Given the description of an element on the screen output the (x, y) to click on. 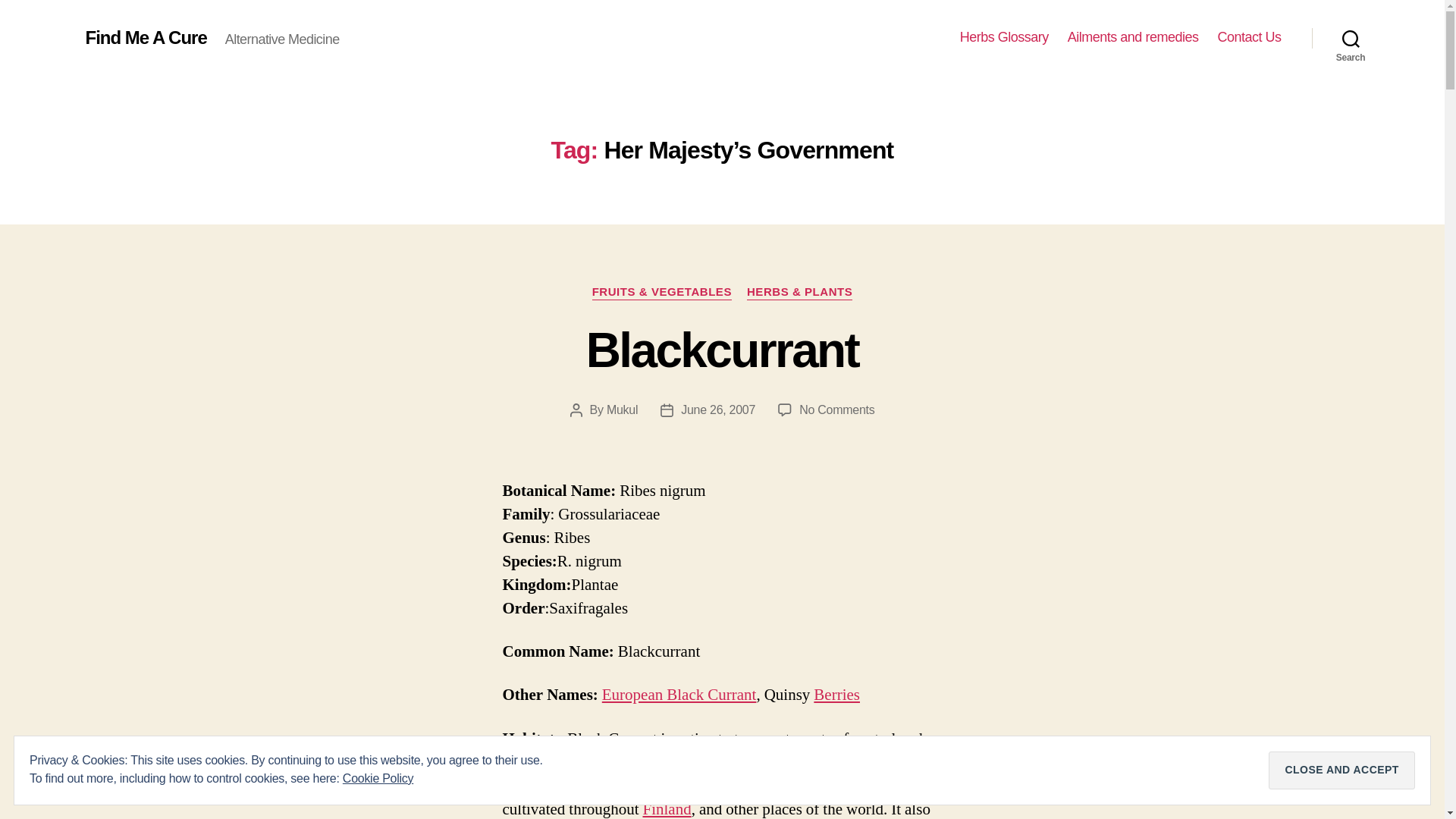
Close and accept (1341, 770)
Herbs Glossary (1003, 37)
Finland (666, 809)
Find Me A Cure (145, 37)
Blackcurrant (722, 349)
Finland (666, 809)
Search (1350, 37)
Mukul (622, 409)
Europe (583, 762)
Berries (836, 694)
